Given the description of an element on the screen output the (x, y) to click on. 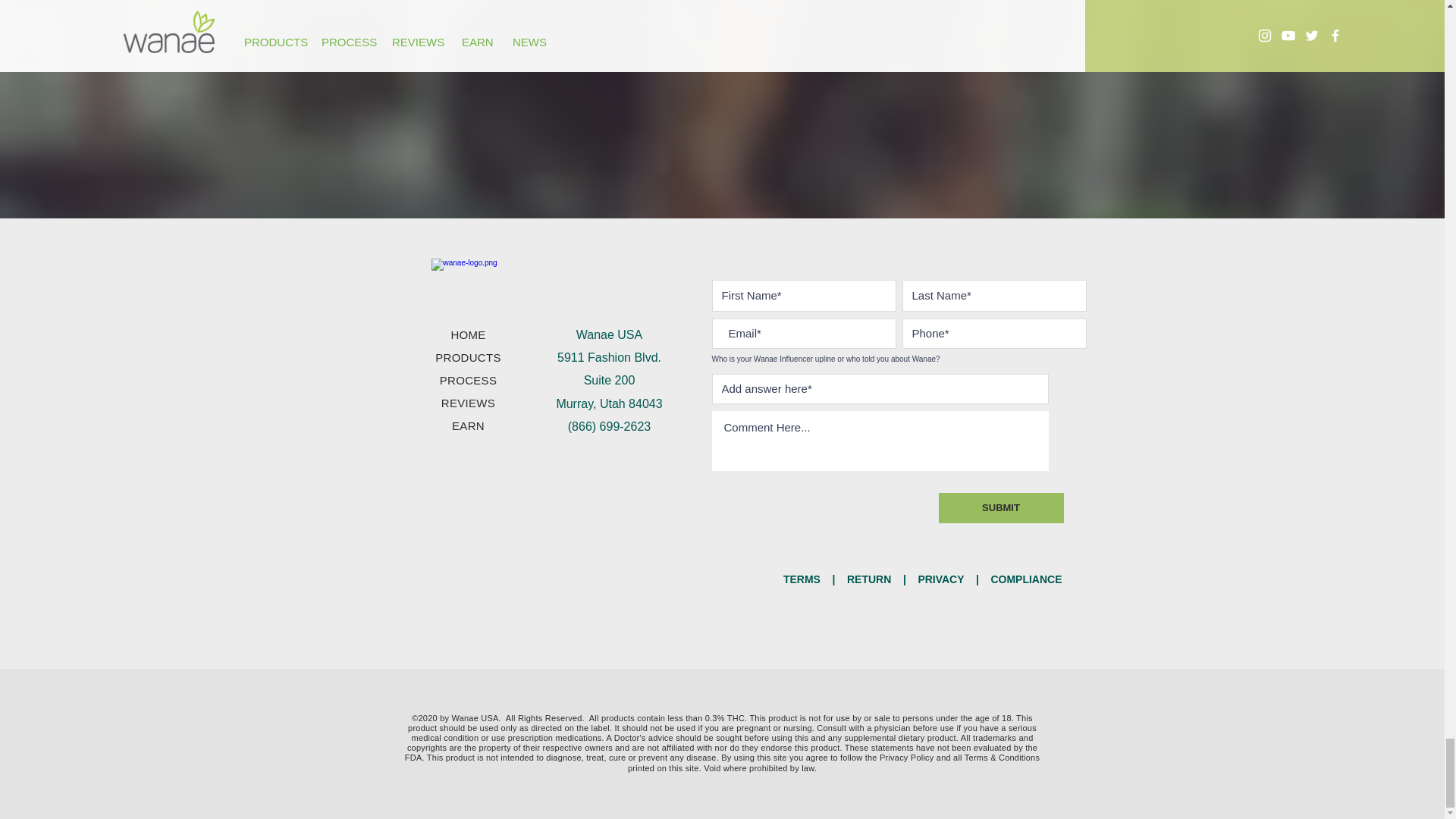
PROCESS (467, 379)
PRODUCTS (467, 357)
HOME (466, 334)
